Given the description of an element on the screen output the (x, y) to click on. 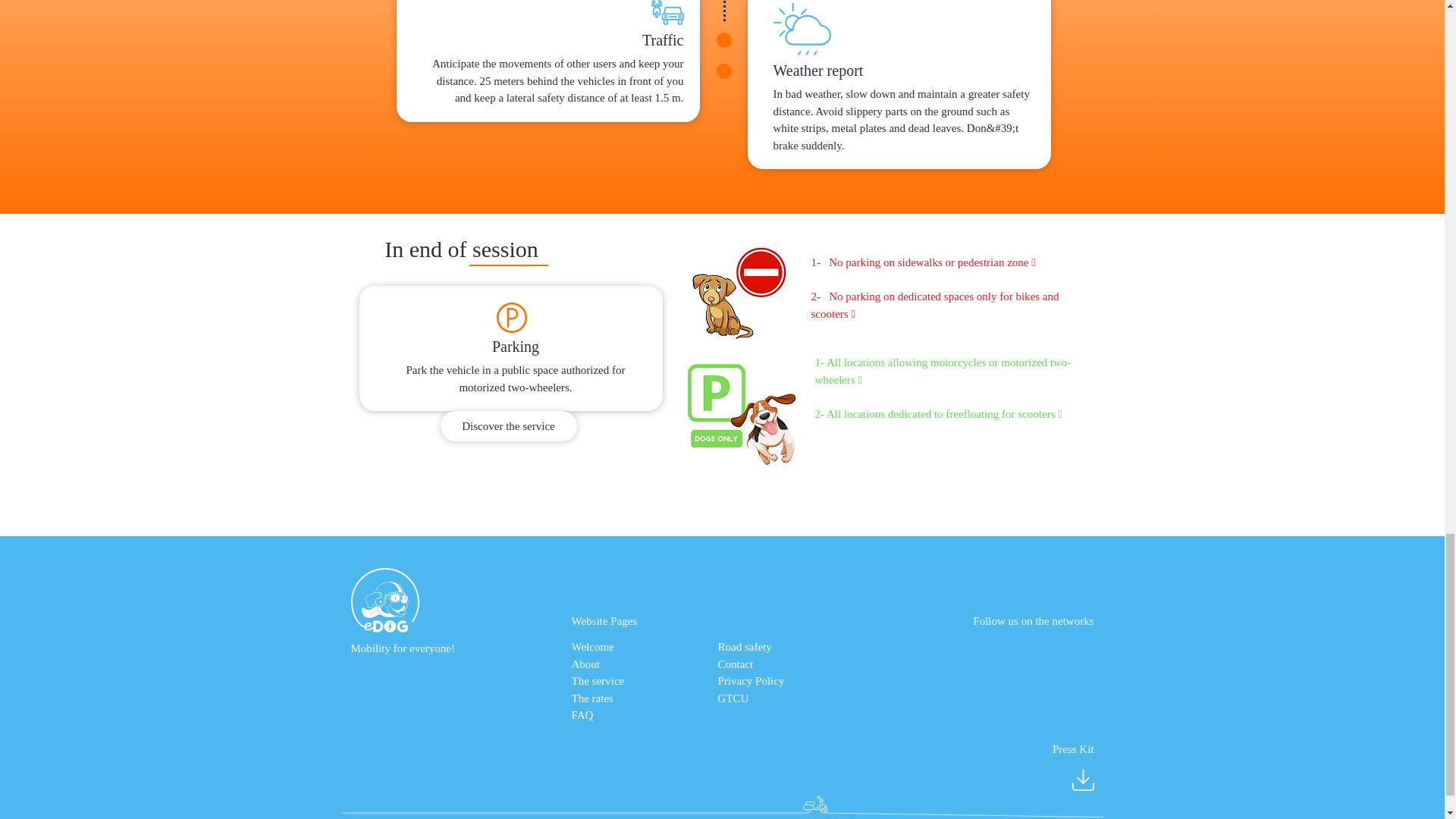
FAQ (583, 715)
Contact (734, 664)
GTCU (732, 697)
Privacy Policy (750, 680)
Road safety (744, 646)
Welcome (593, 646)
The service (598, 680)
About (585, 664)
The rates (592, 697)
Discover the service (507, 426)
